Given the description of an element on the screen output the (x, y) to click on. 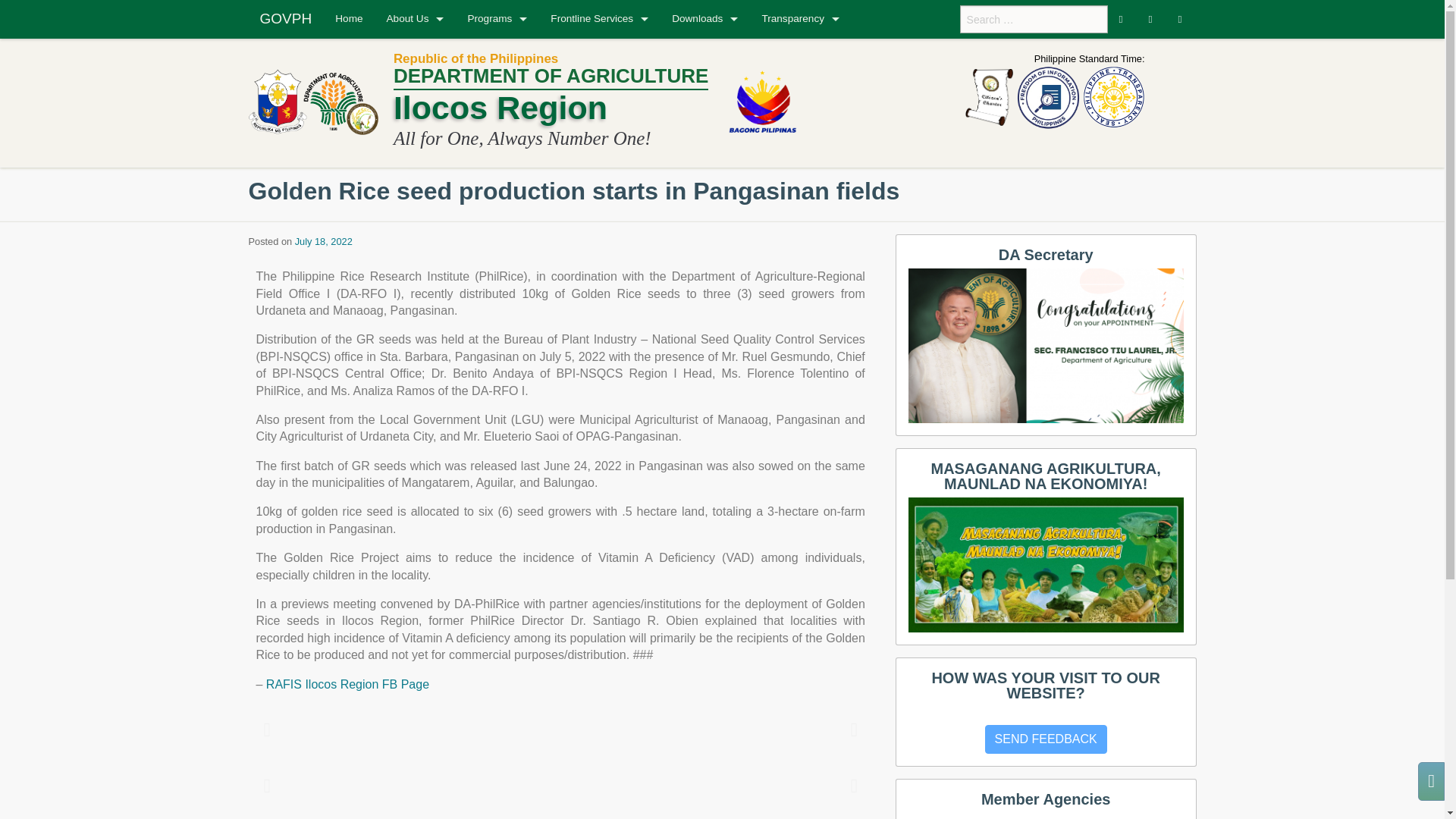
Search for: (1033, 18)
DA Regional Field Office 1 (478, 101)
7:51 PM (323, 241)
TRANSFORMING PHILIPPINE AGRICULTURE (1045, 564)
Secretary of DA (1045, 345)
Transparency Seal (1113, 96)
